Given the description of an element on the screen output the (x, y) to click on. 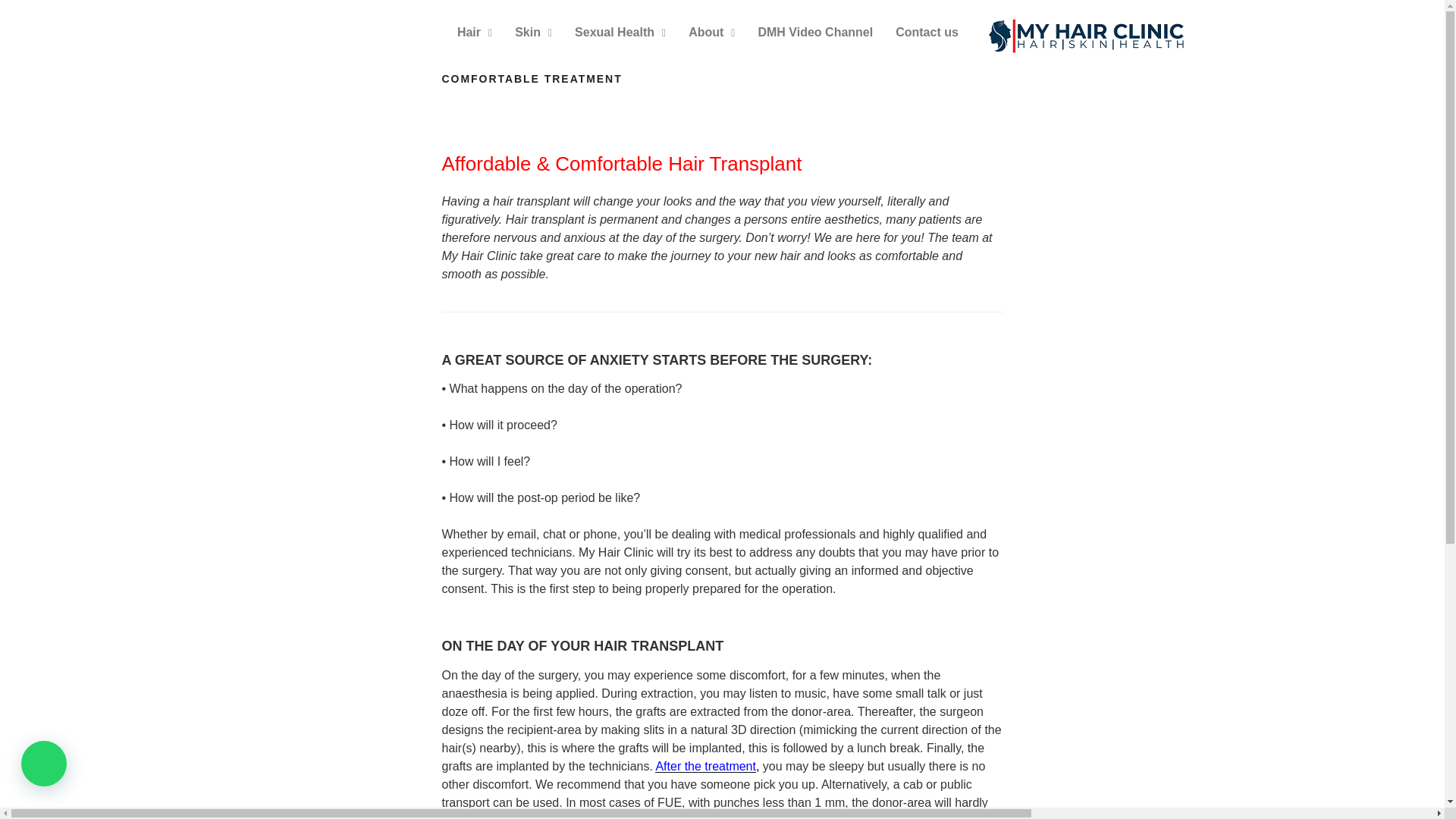
Sexual Health (620, 32)
Skin (533, 32)
After the treatment (705, 766)
Hair (474, 32)
Contact us (926, 32)
MHC Hair Skin Health Blue (1087, 35)
About (711, 32)
DMH Video Channel (814, 32)
